Given the description of an element on the screen output the (x, y) to click on. 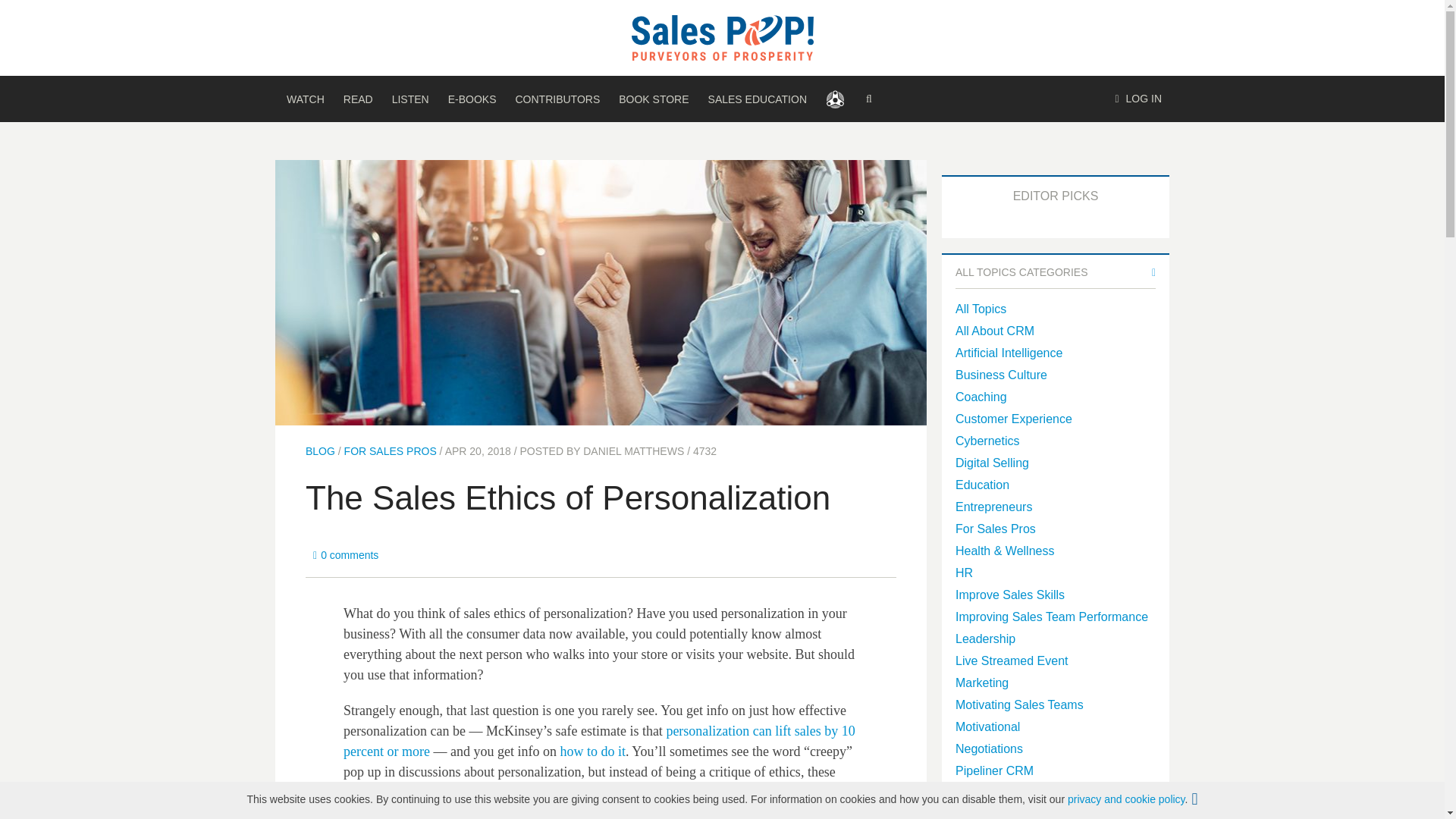
E-BOOKS (472, 99)
personalization can lift sales by 10 percent or more (599, 741)
0 comments (345, 555)
CONTRIBUTORS (556, 99)
LOG IN (1138, 99)
SALES EDUCATION (756, 99)
LISTEN (410, 99)
how to do it (592, 751)
BLOG (319, 451)
BOOK STORE (653, 99)
